Given the description of an element on the screen output the (x, y) to click on. 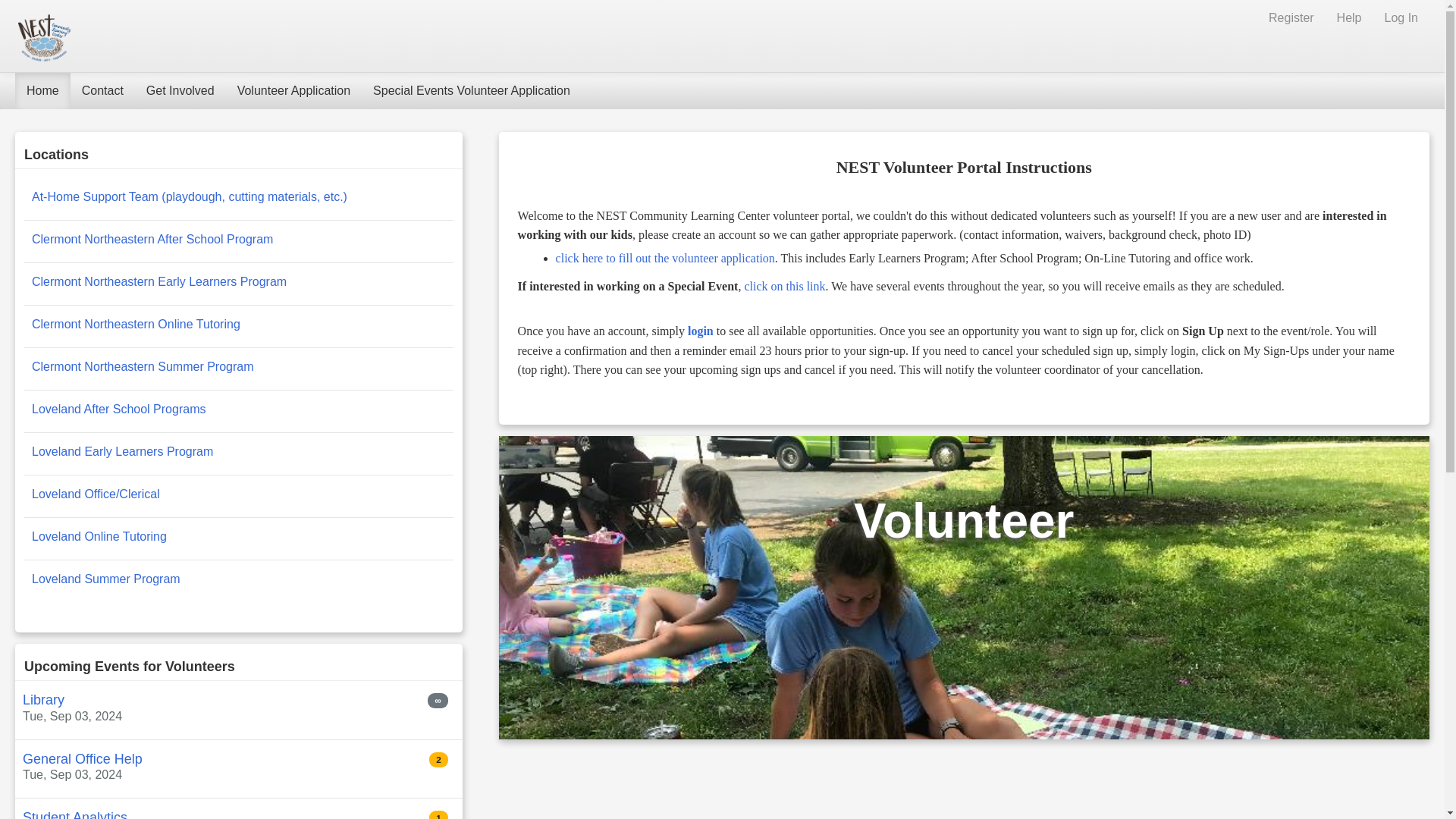
General Office Help (82, 758)
Clermont Northeastern Summer Program (142, 366)
Help (1348, 18)
Clermont Northeastern Early Learners Program (159, 281)
Volunteer Application (293, 90)
Register (1290, 18)
1 of 1 signups still needed (438, 814)
Unlimited (437, 700)
login (700, 330)
click on this link (784, 286)
